Given the description of an element on the screen output the (x, y) to click on. 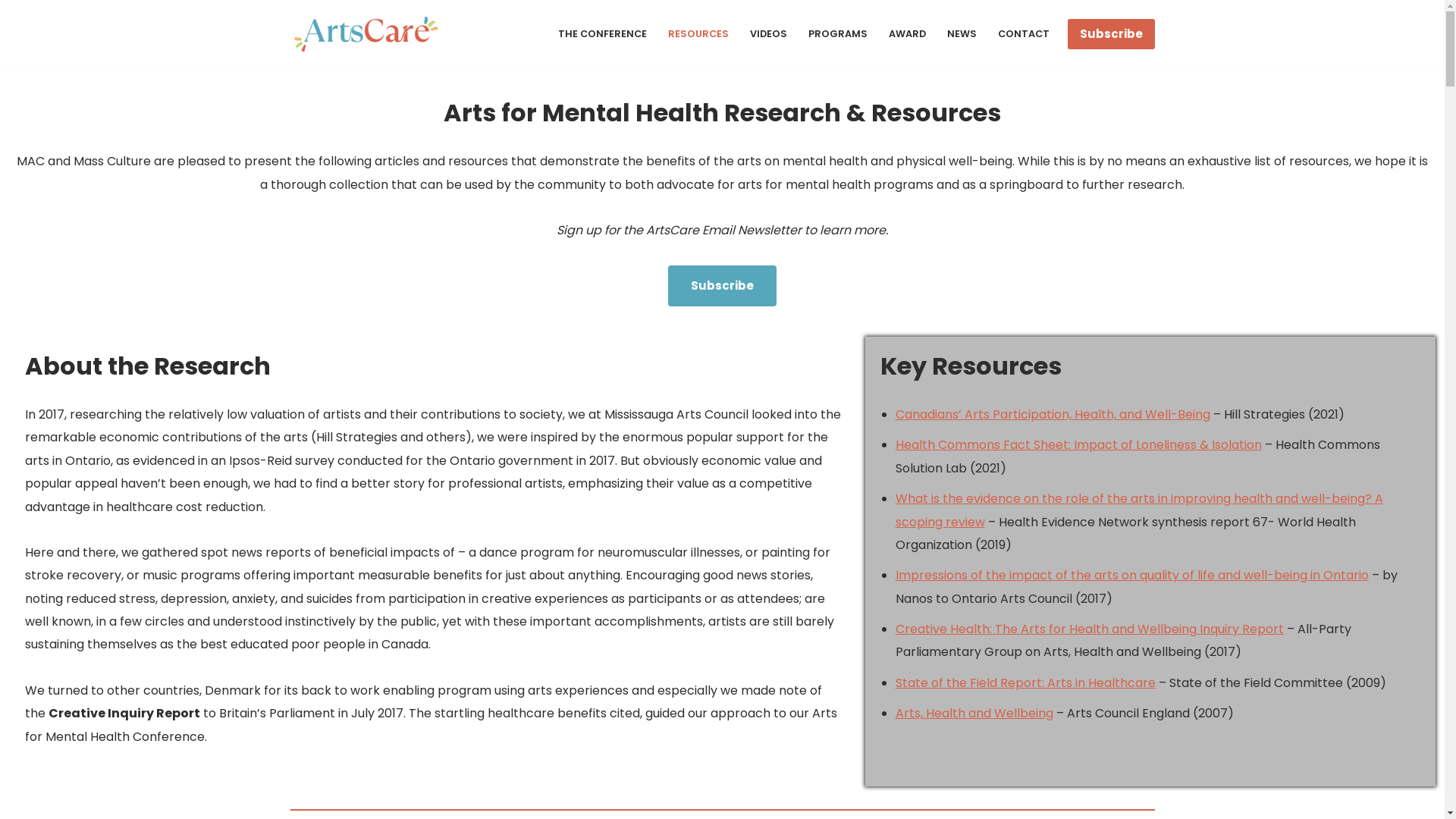
Subscribe Element type: text (722, 285)
Arts, Health and Wellbeing Element type: text (973, 712)
State of the Field Report: Arts in Healthcare Element type: text (1024, 682)
CONTACT Element type: text (1023, 33)
AWARD Element type: text (906, 33)
PROGRAMS Element type: text (837, 33)
Subscribe Element type: text (1110, 33)
VIDEOS Element type: text (767, 33)
THE CONFERENCE Element type: text (602, 33)
Skip to content Element type: text (11, 31)
Health Commons Fact Sheet: Impact of Loneliness & Isolation Element type: text (1077, 444)
NEWS Element type: text (960, 33)
RESOURCES Element type: text (697, 33)
